Given the description of an element on the screen output the (x, y) to click on. 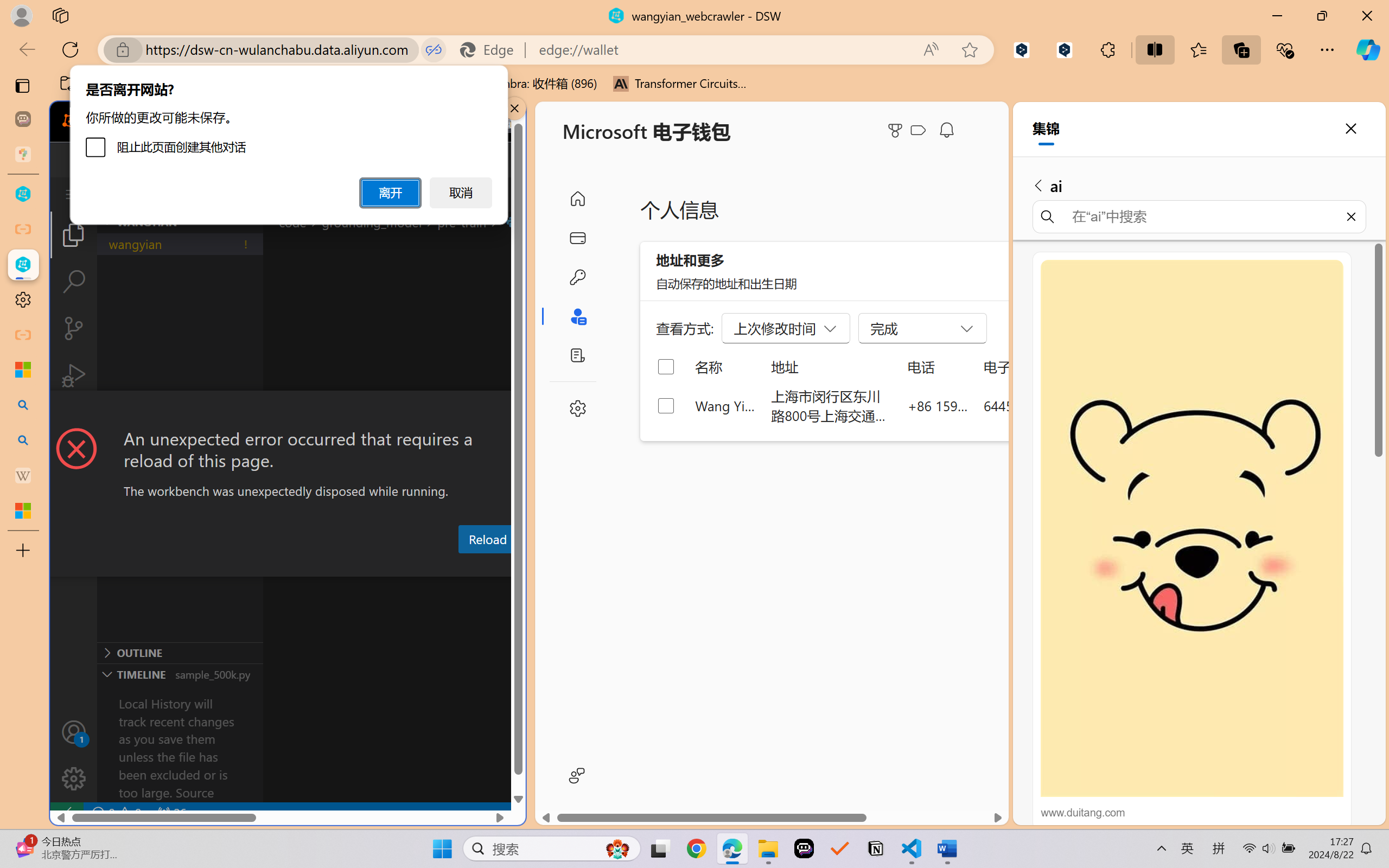
Microsoft Rewards (896, 129)
Reload (486, 538)
